Given the description of an element on the screen output the (x, y) to click on. 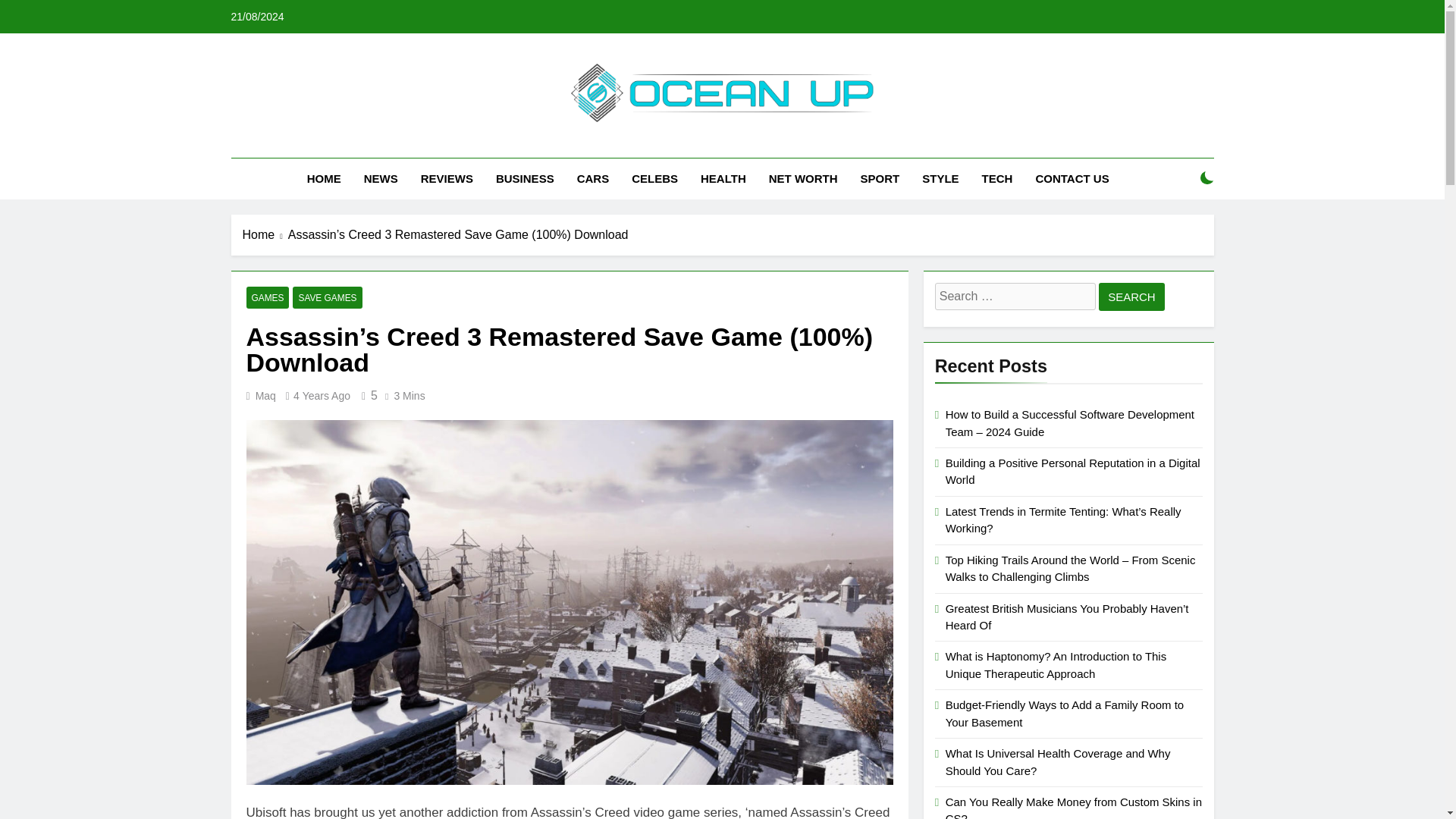
TECH (998, 178)
HEALTH (722, 178)
CARS (593, 178)
NEWS (380, 178)
4 Years Ago (322, 395)
HOME (323, 178)
5 (366, 395)
Oceanup (545, 143)
STYLE (940, 178)
Search (1131, 296)
